Given the description of an element on the screen output the (x, y) to click on. 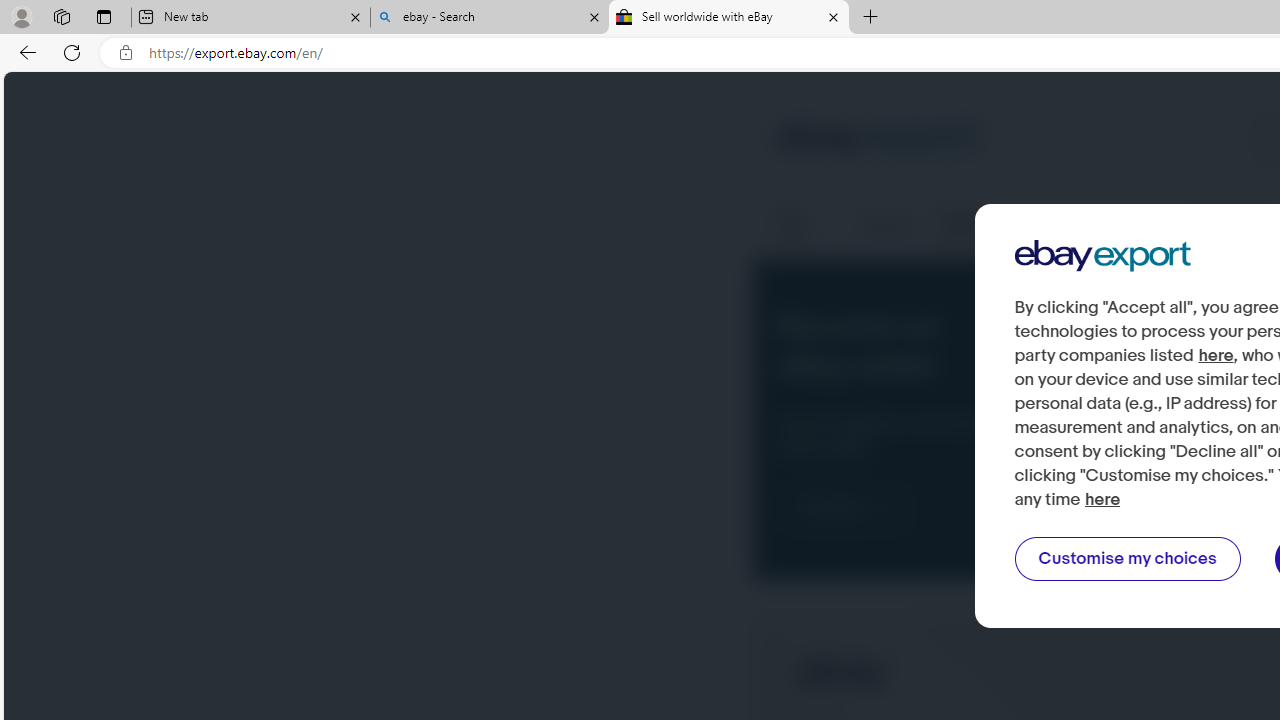
Customise my choices (1127, 559)
Class: btn__arrow (882, 507)
First steps (804, 225)
Class: header__logo (875, 139)
Shipping (886, 226)
Ebay Export (1101, 255)
here (1103, 500)
